Given the description of an element on the screen output the (x, y) to click on. 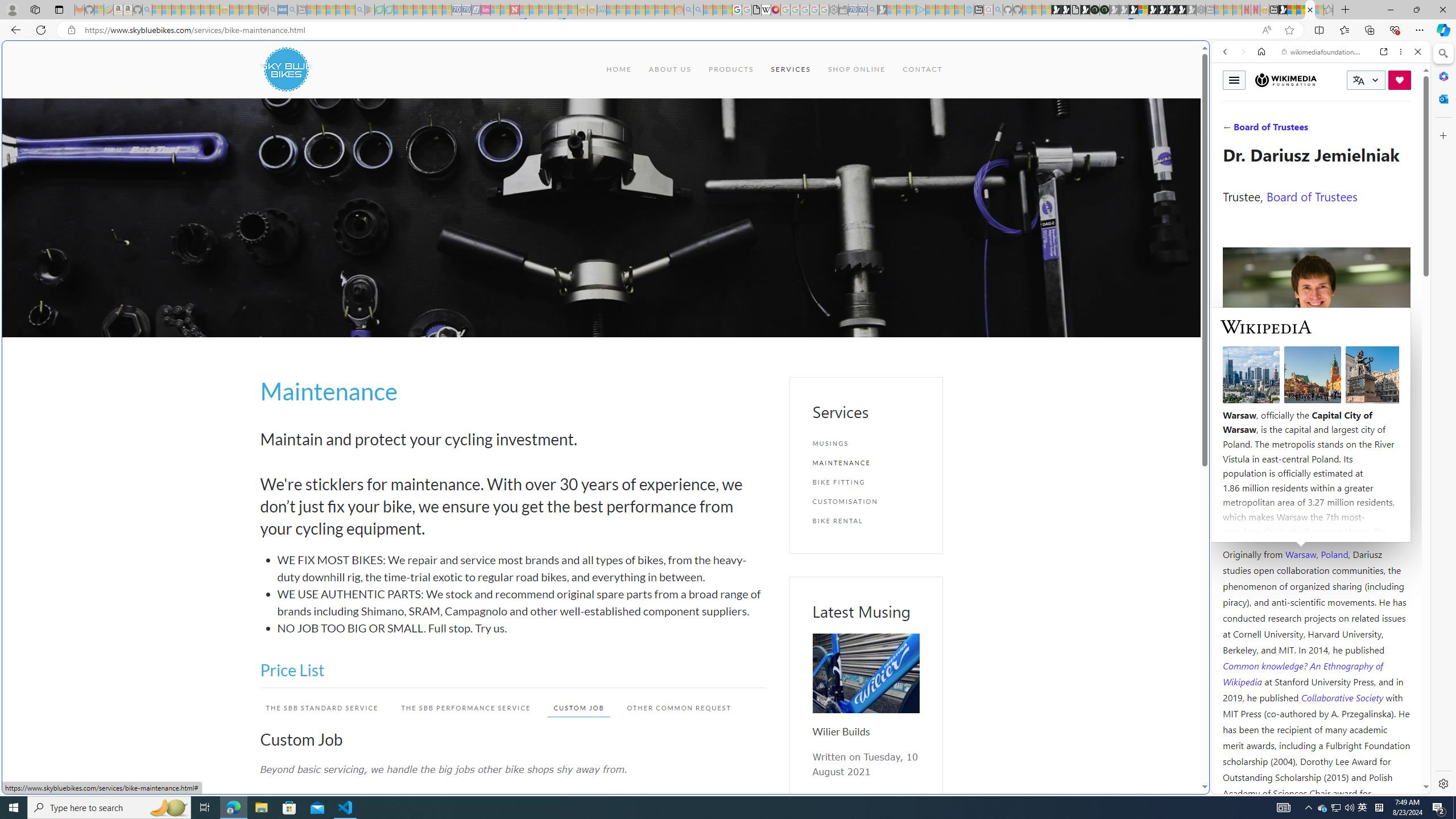
MUSINGS (865, 443)
Favorites - Sleeping (1328, 9)
MUSINGS (865, 443)
CONTACT (922, 68)
Warsaw (1300, 554)
